Given the description of an element on the screen output the (x, y) to click on. 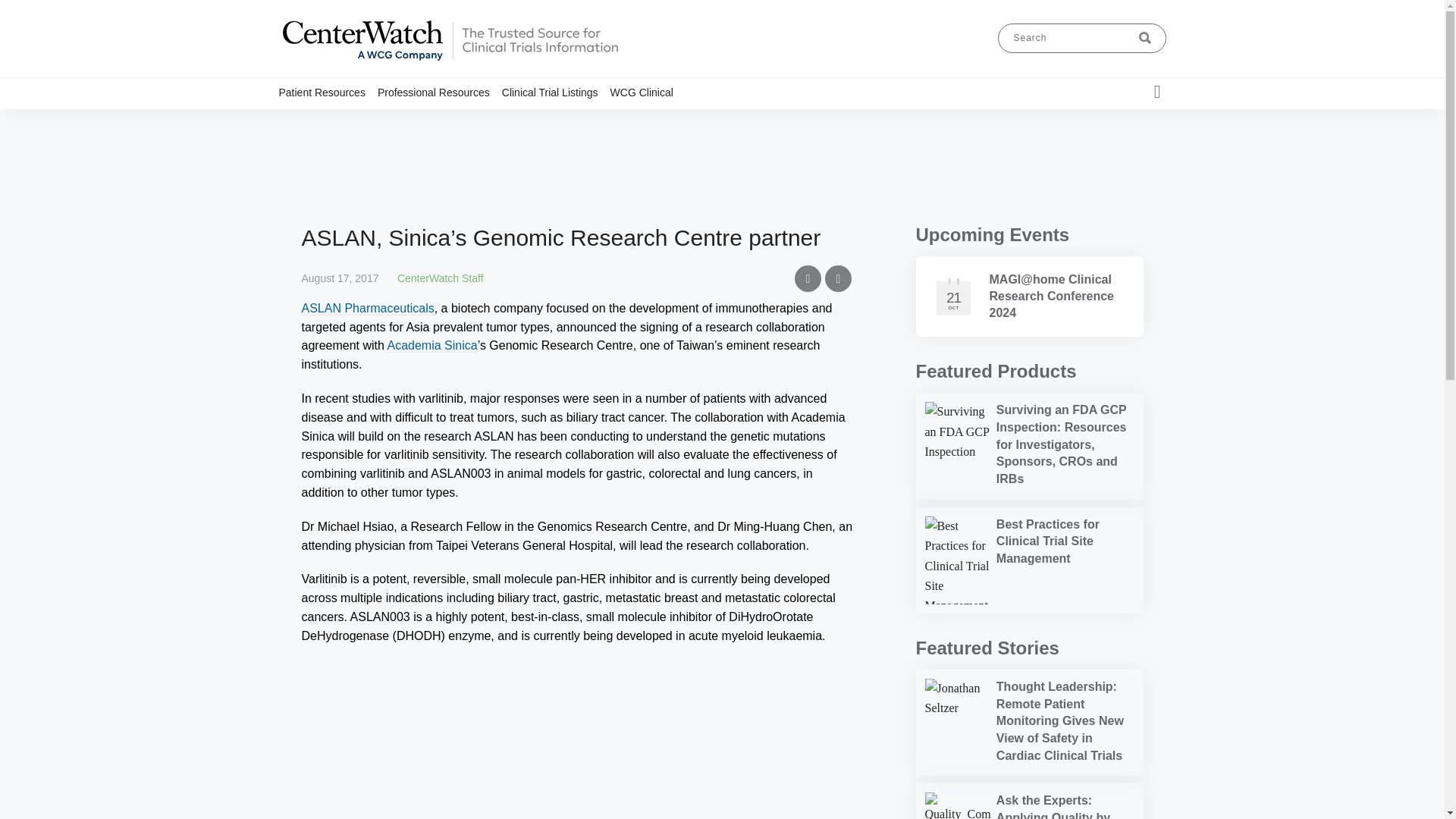
Research Center Profiles (453, 121)
SOPs (488, 121)
eLearning (480, 121)
Clinical Trial Listings (556, 91)
White Papers (487, 121)
FDA Approved Drugs (468, 121)
Clinical Trial Listings (354, 121)
Featured Products (996, 371)
Market Research (459, 121)
Training Guides (472, 121)
